Given the description of an element on the screen output the (x, y) to click on. 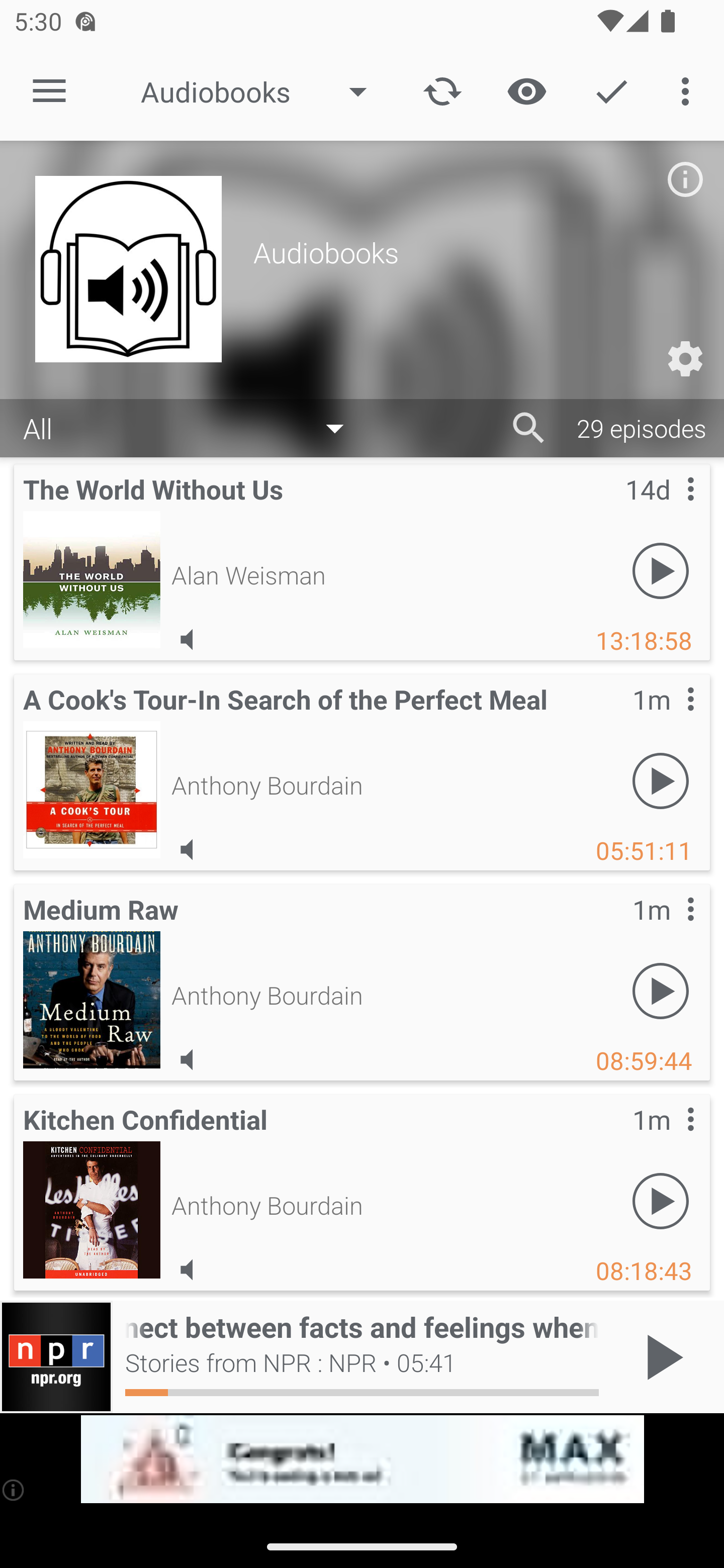
Open navigation sidebar (49, 91)
Update (442, 90)
Show / Hide played content (526, 90)
Action Mode (611, 90)
More options (688, 90)
Audiobooks (263, 91)
Podcast description (685, 179)
Custom Settings (685, 358)
Search (528, 428)
All (192, 428)
Contextual menu (668, 508)
The World Without Us (91, 579)
Play (660, 571)
Contextual menu (668, 718)
A Cook's Tour-In Search of the Perfect Meal (91, 789)
Play (660, 780)
Contextual menu (668, 928)
Medium Raw (91, 999)
Play (660, 990)
Contextual menu (668, 1138)
Kitchen Confidential (91, 1209)
Play (660, 1200)
Play / Pause (660, 1356)
app-monetization (362, 1459)
(i) (14, 1489)
